Given the description of an element on the screen output the (x, y) to click on. 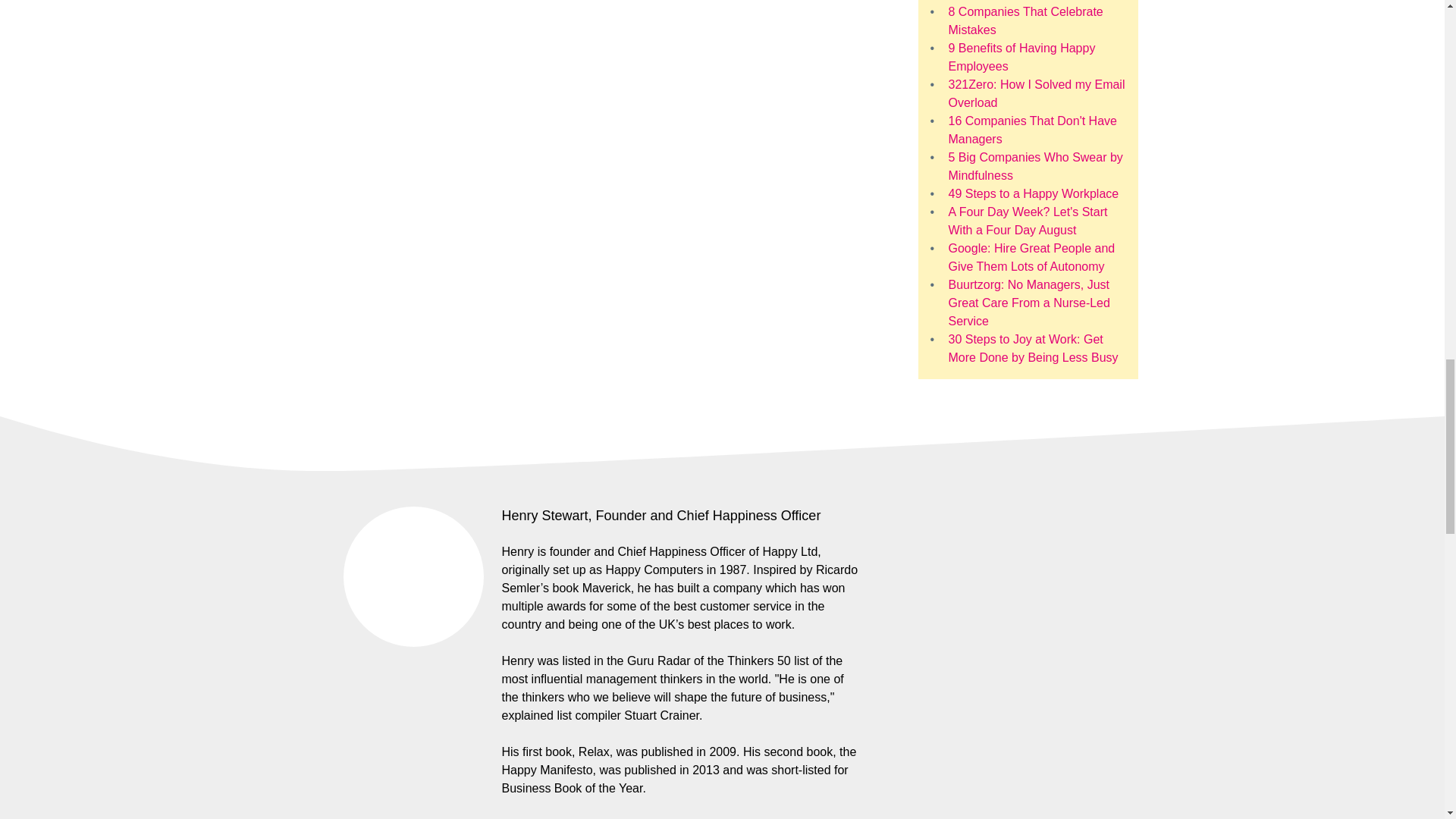
8 companies that celebrate mistakes (1024, 20)
49 Steps to a Happy Workplace (1032, 193)
30 Steps to Joy at Work: Get More Done by Being Less Busy (1032, 347)
Five Big Companies Who Swear By Mindfulness (1034, 165)
Google: hire great people and give them lots of autonomy (1031, 256)
9 benefits of having happy employees (1020, 56)
321zero: How I Solved my Email Overload (1035, 92)
